Given the description of an element on the screen output the (x, y) to click on. 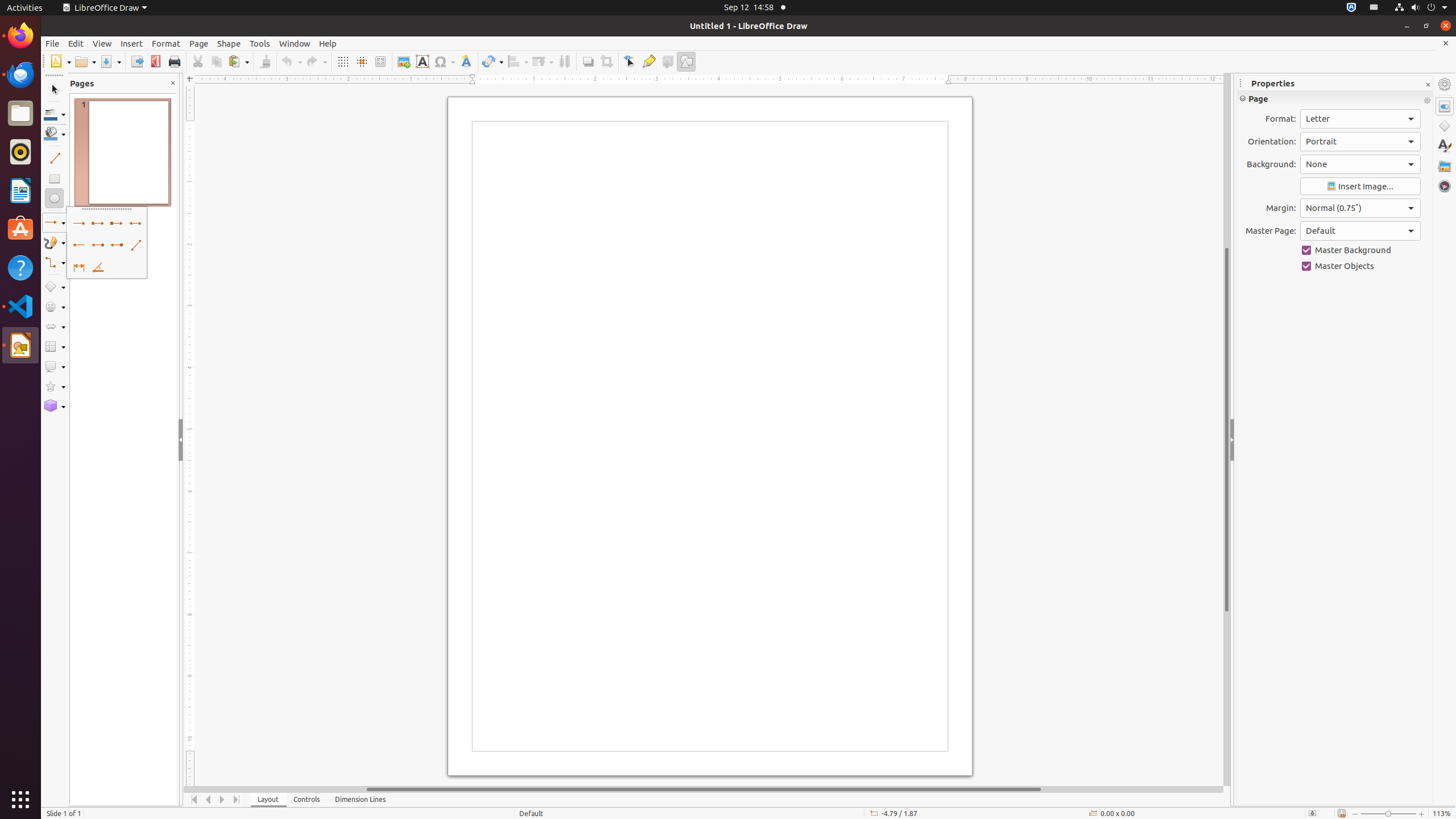
Close Pane Element type: push-button (172, 82)
:1.21/StatusNotifierItem Element type: menu (1373, 7)
More Options Element type: push-button (1426, 100)
Align Element type: push-button (517, 61)
